Given the description of an element on the screen output the (x, y) to click on. 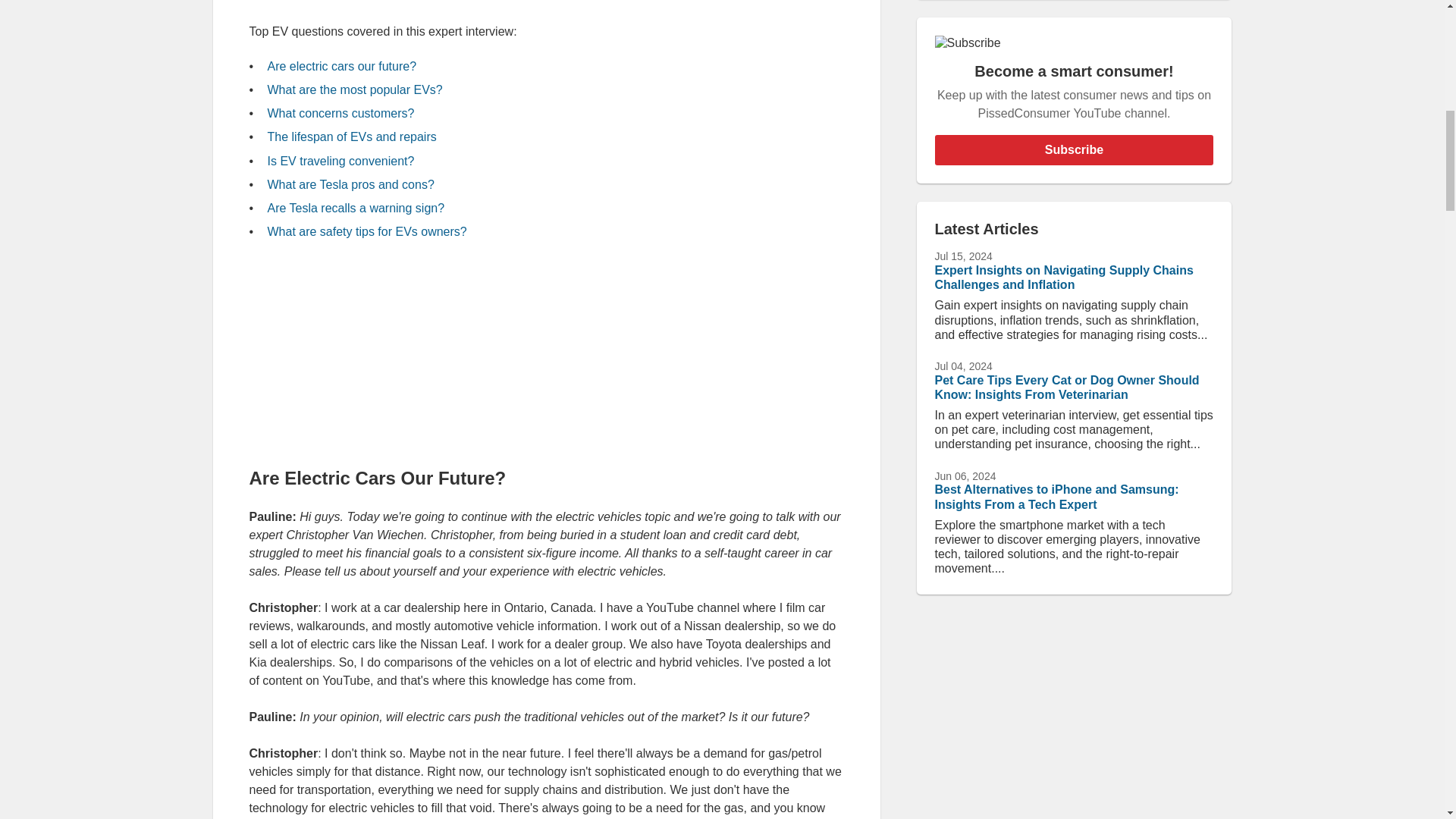
The lifespan of EVs and repairs (350, 136)
Are electric cars our future? (341, 65)
Is EV traveling convenient? (339, 160)
What are Tesla pros and cons? (349, 184)
What concerns customers? (339, 113)
What are safety tips for EVs owners? (365, 231)
Are Tesla recalls a warning sign? (355, 207)
What are the most popular EVs? (354, 89)
